Given the description of an element on the screen output the (x, y) to click on. 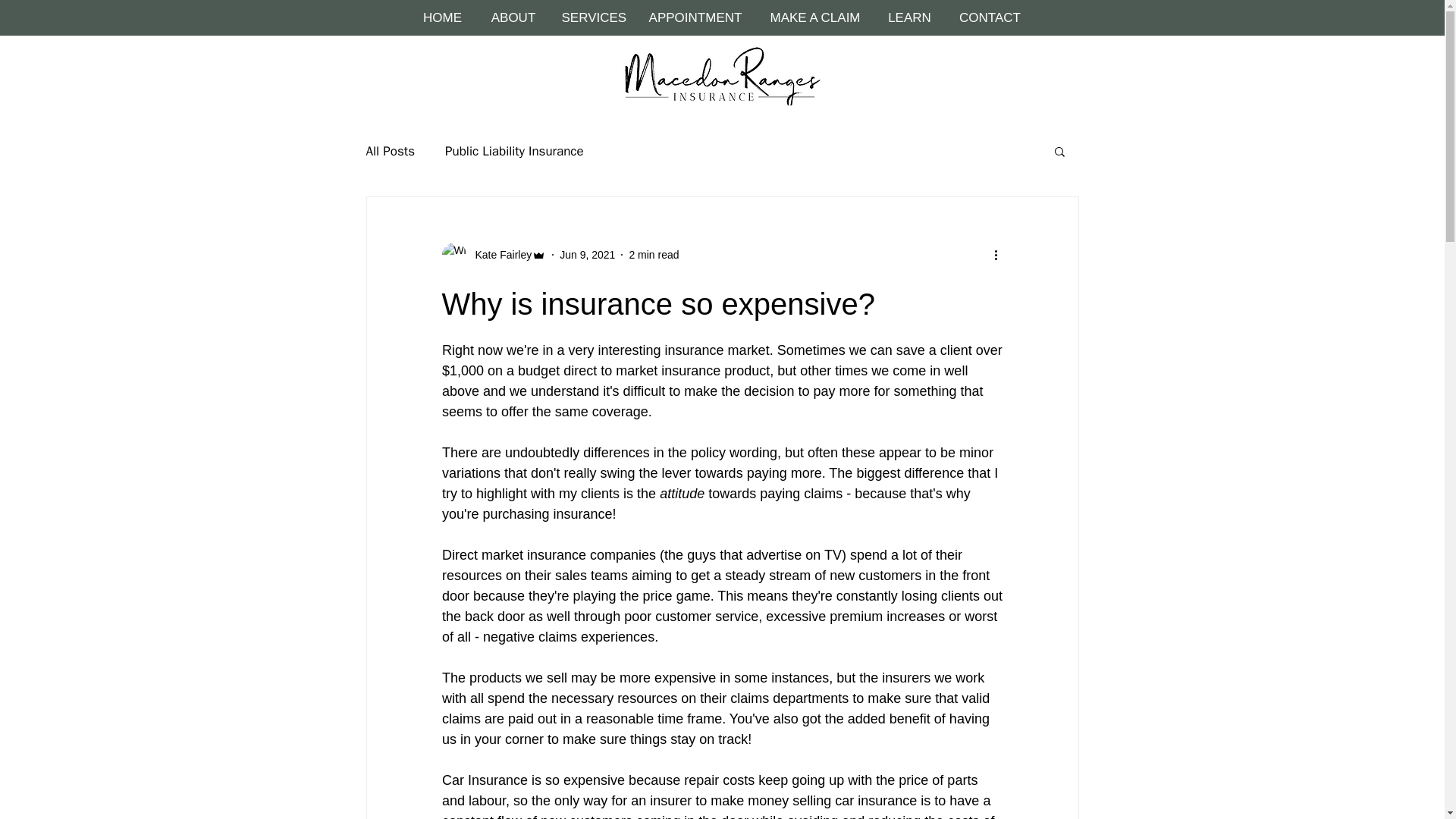
Public Liability Insurance (514, 150)
Kate Fairley (498, 254)
SERVICES (592, 18)
APPOINTMENT (694, 18)
ABOUT (513, 18)
Kate Fairley (493, 254)
HOME (441, 18)
CONTACT (989, 18)
LEARN (909, 18)
MAKE A CLAIM (815, 18)
All Posts (389, 150)
Jun 9, 2021 (586, 254)
2 min read (653, 254)
